Given the description of an element on the screen output the (x, y) to click on. 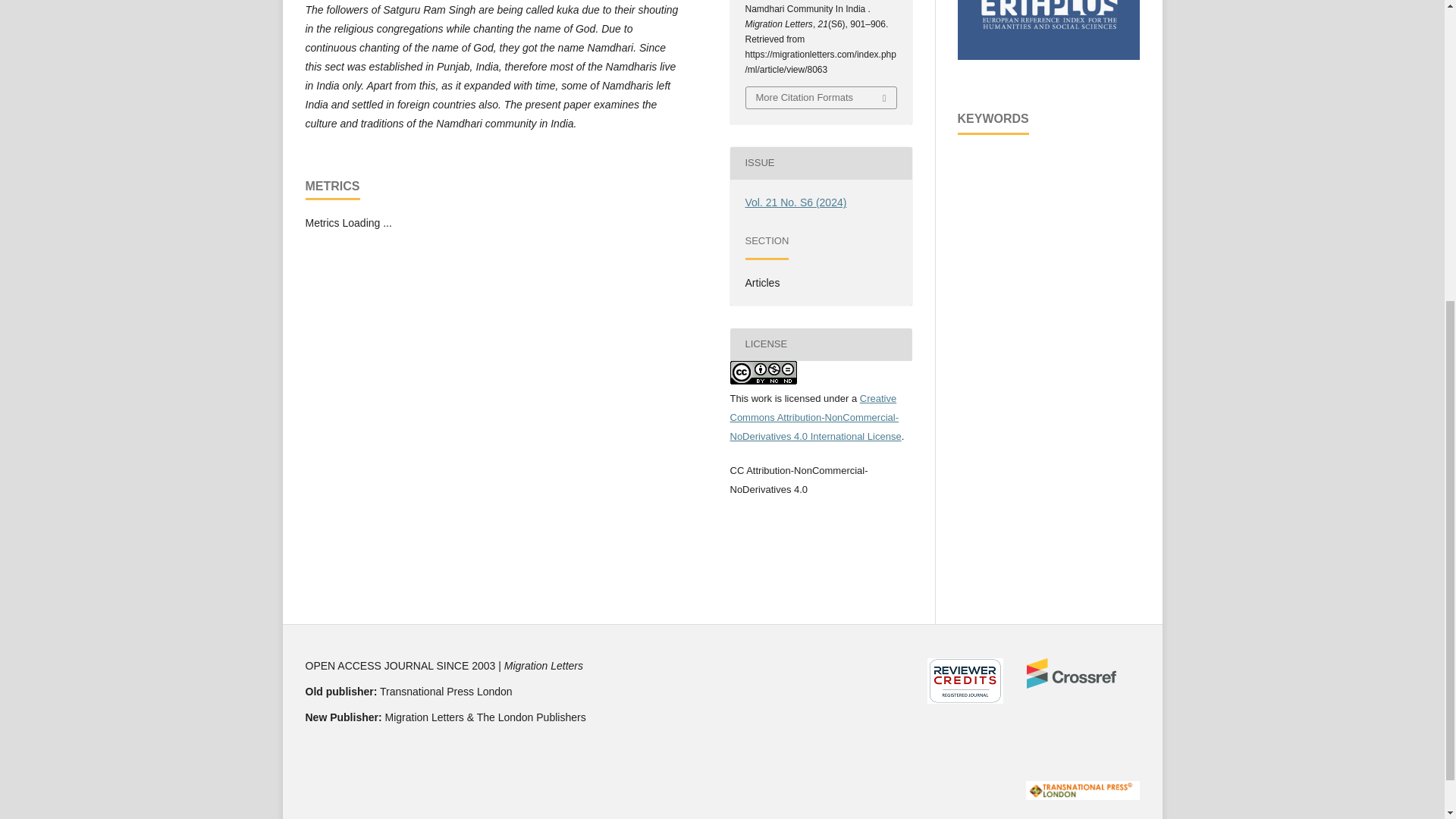
More Citation Formats (820, 97)
